Given the description of an element on the screen output the (x, y) to click on. 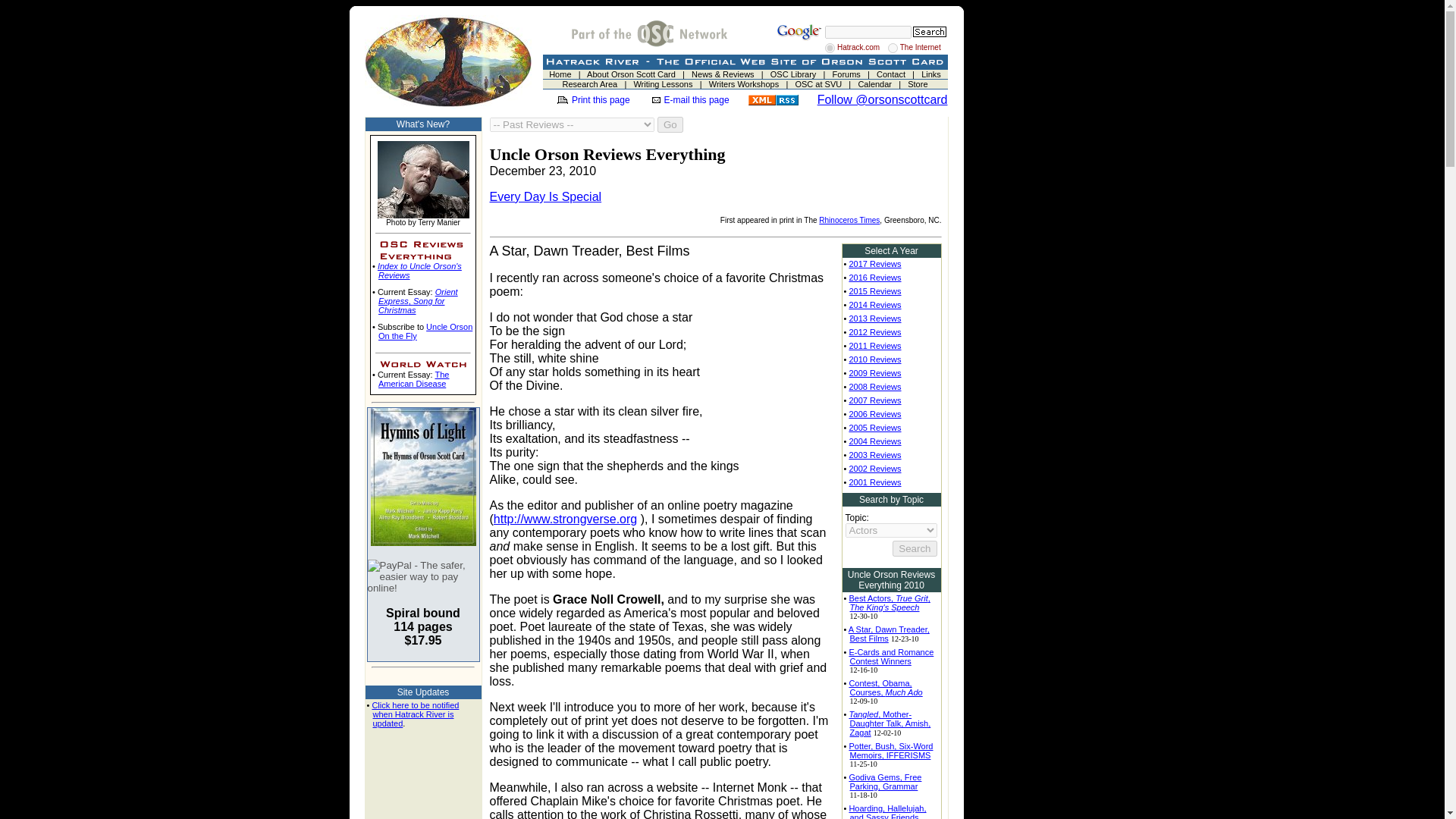
Links (930, 73)
Writers Workshops (743, 83)
About Orson Scott Card (630, 73)
2017 Reviews (874, 263)
Writing Lessons (663, 83)
www.hatrack.com (829, 48)
2010 Reviews (874, 358)
Index to Uncle Orson's Reviews (419, 270)
Contact (890, 73)
Print this page (601, 100)
2016 Reviews (874, 276)
Orient Express, Song for Christmas (418, 300)
Rhinoceros Times (848, 220)
Every Day Is Special (545, 196)
Uncle Orson On the Fly (424, 331)
